Given the description of an element on the screen output the (x, y) to click on. 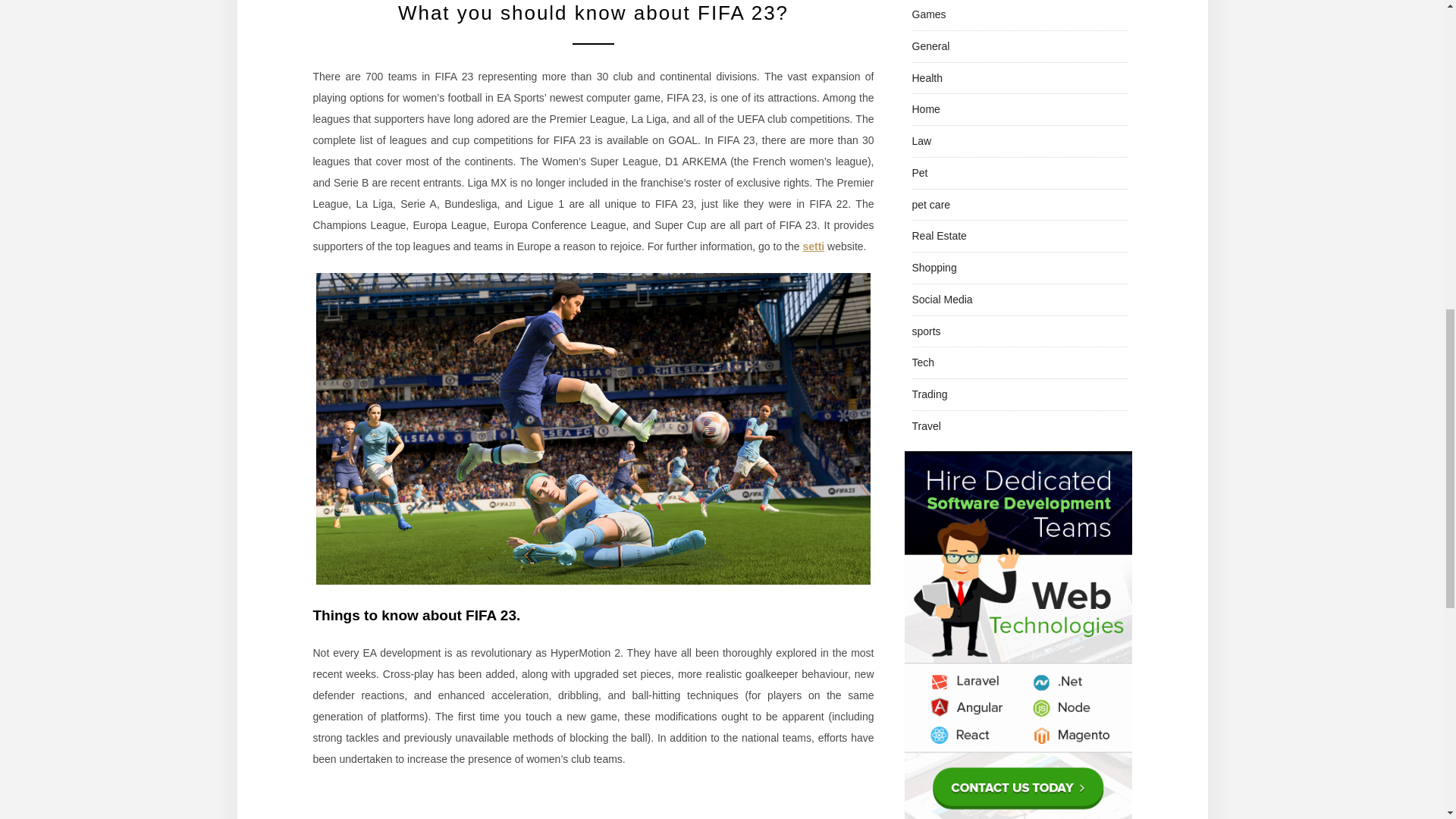
Games (927, 14)
setti (813, 246)
Social Media (941, 299)
General (930, 46)
What you should know about FIFA 23? (593, 12)
Trading (929, 394)
Law (921, 141)
Travel (925, 426)
Tech (922, 362)
Home (925, 109)
